Given the description of an element on the screen output the (x, y) to click on. 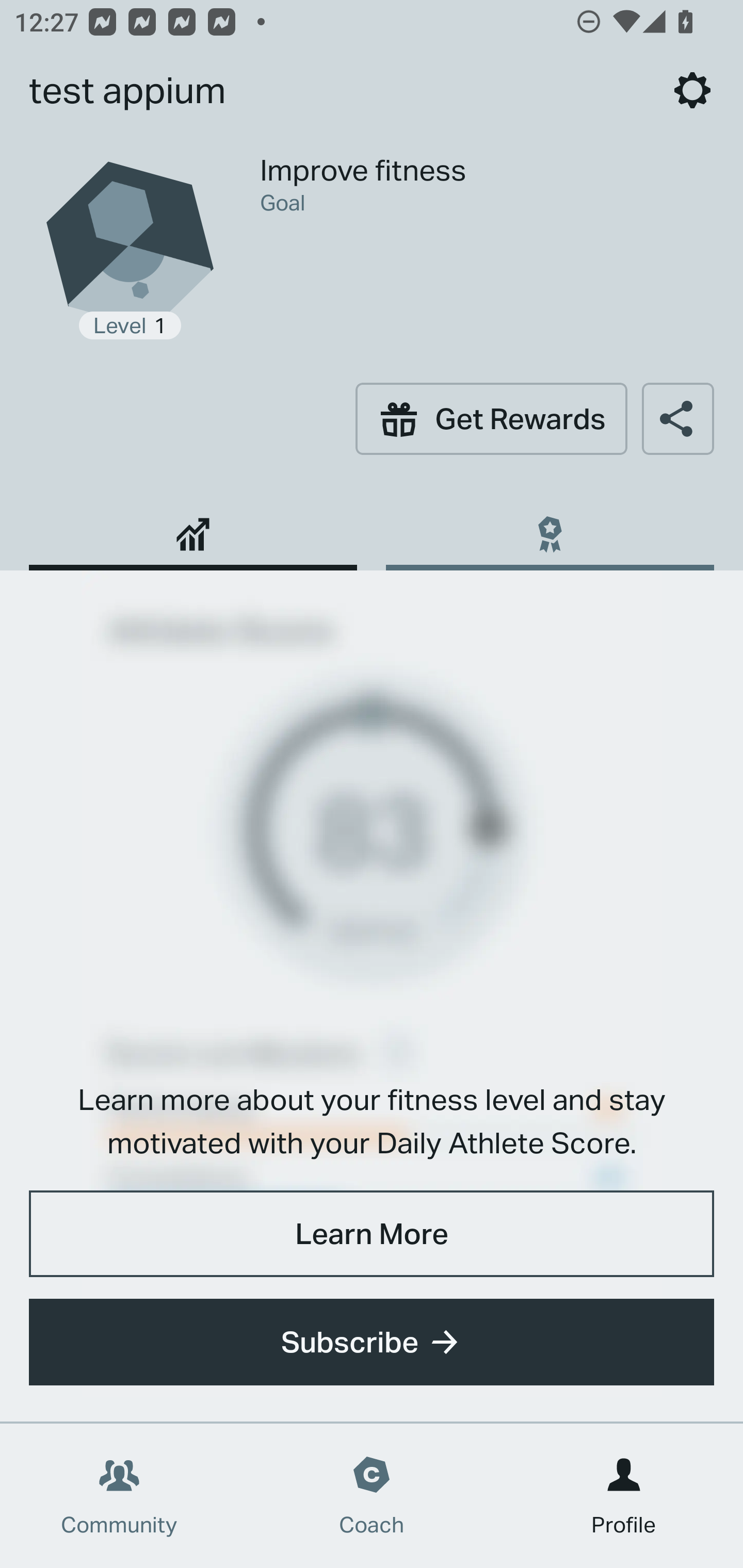
Settings (692, 90)
Get Rewards (491, 418)
Daily Athlete Score (192, 527)
Hall of Fame (549, 527)
Learn More (371, 1233)
Subscribe (371, 1342)
Community (119, 1495)
Coach (371, 1495)
